Given the description of an element on the screen output the (x, y) to click on. 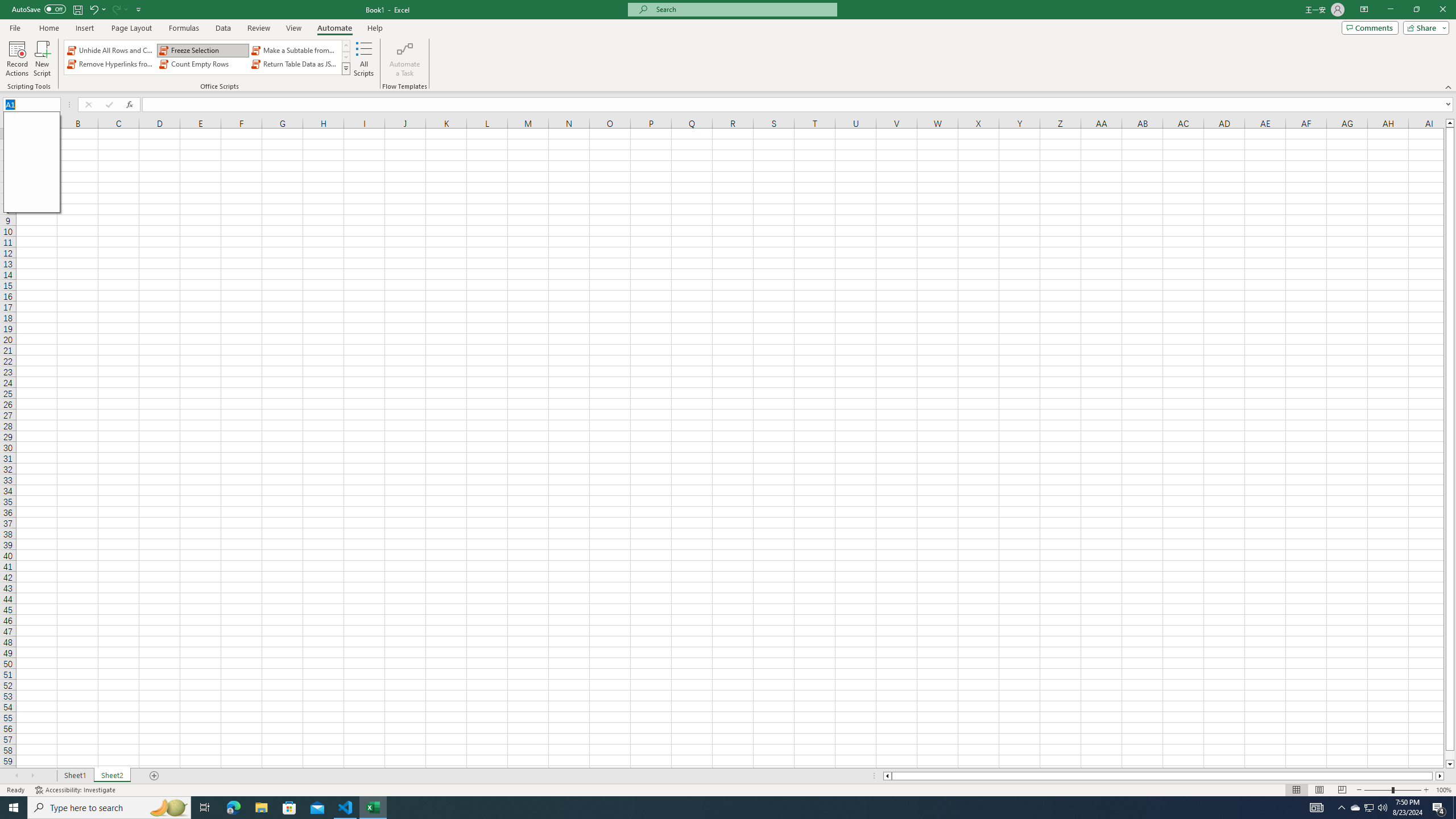
Unhide All Rows and Columns (111, 50)
Make a Subtable from a Selection (294, 50)
Return Table Data as JSON (294, 64)
Automate a Task (404, 58)
